Given the description of an element on the screen output the (x, y) to click on. 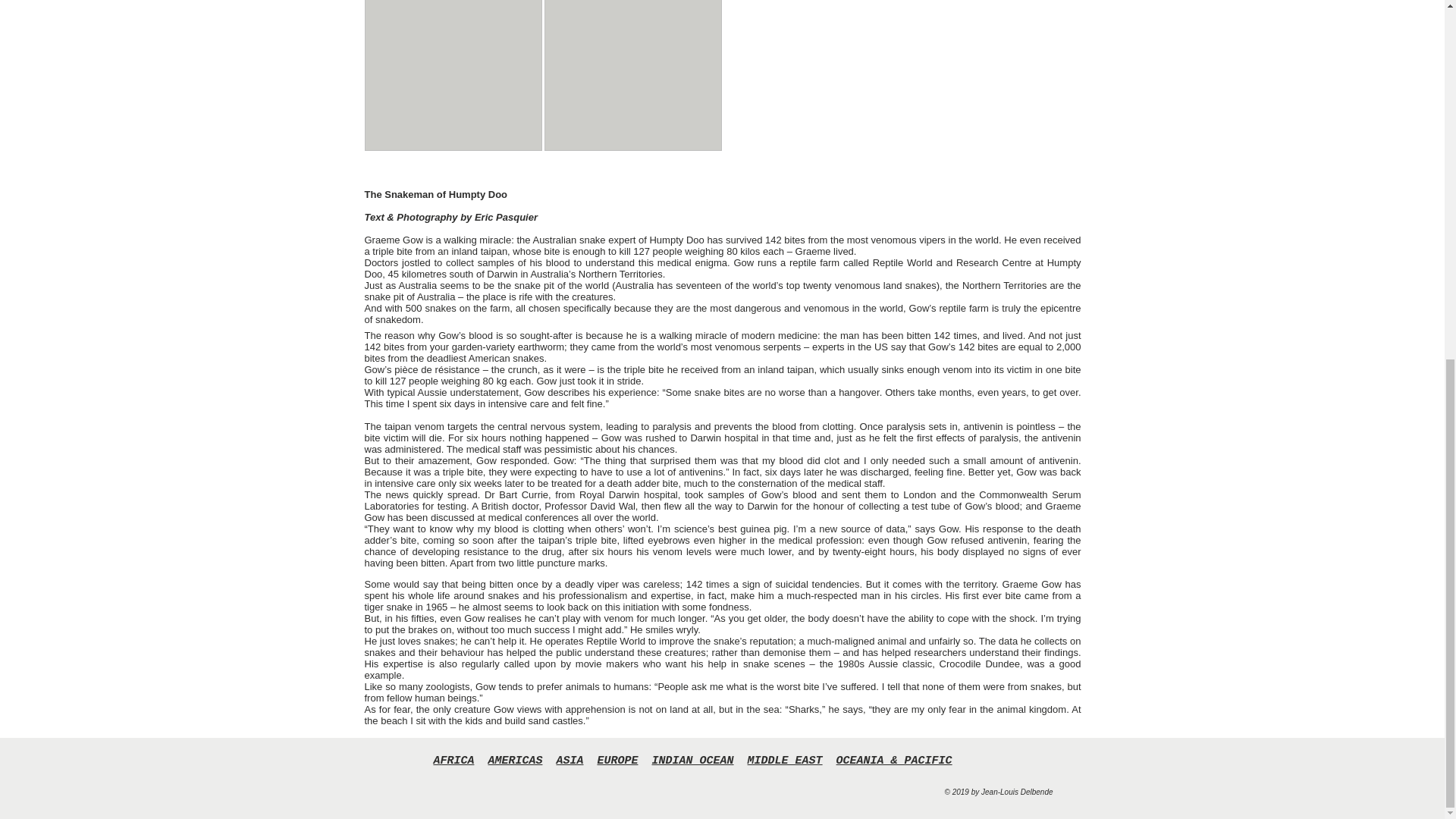
INDIAN OCEAN (692, 760)
ASIA (569, 760)
EUROPE (616, 760)
MIDDLE EAST (785, 760)
AFRICA (453, 760)
AMERICAS (514, 760)
